Given the description of an element on the screen output the (x, y) to click on. 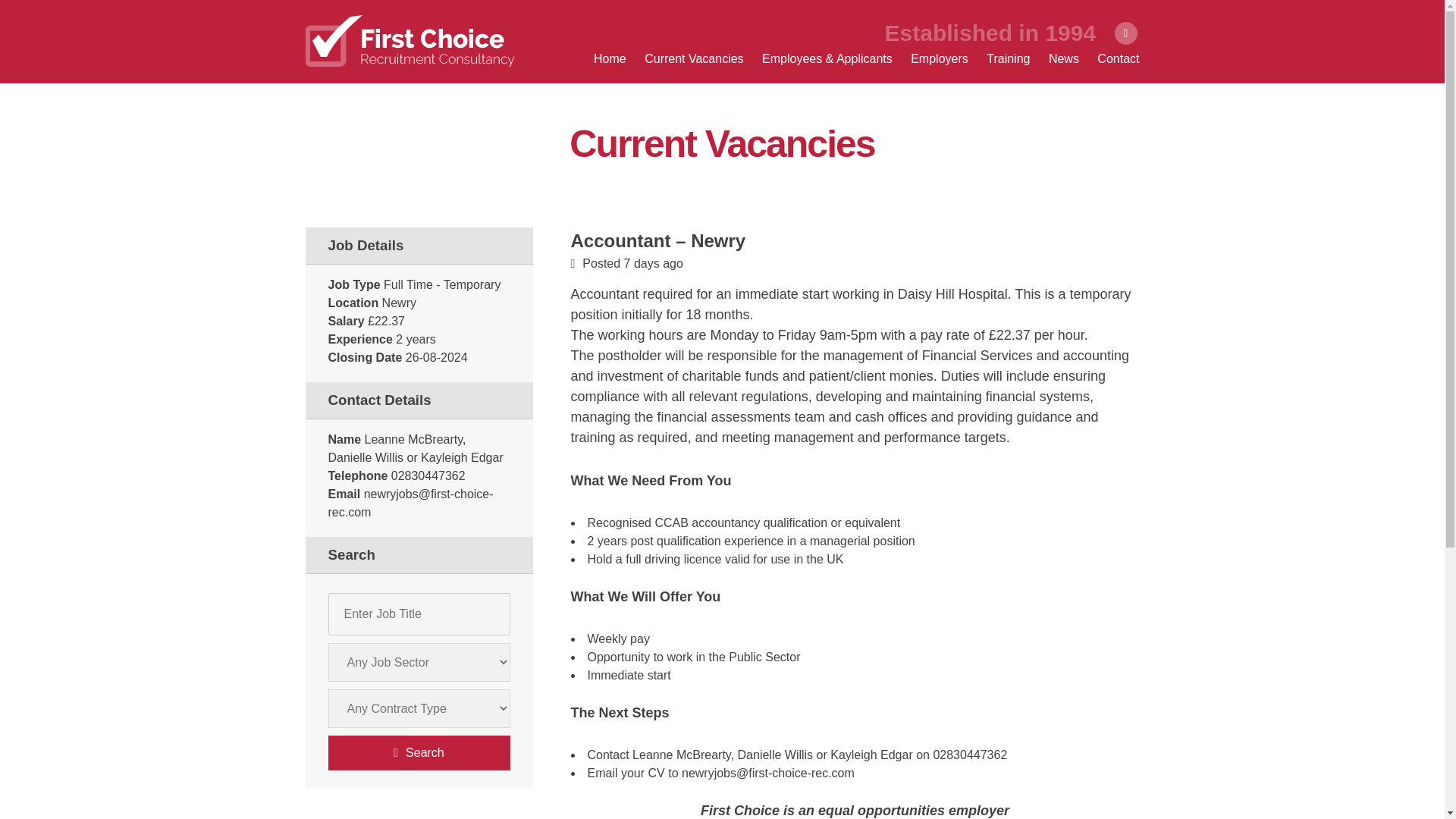
Home (610, 58)
Current Vacancies (693, 58)
News (1063, 58)
Contact (1117, 58)
Training (1008, 58)
Employers (939, 58)
Search (418, 752)
